Given the description of an element on the screen output the (x, y) to click on. 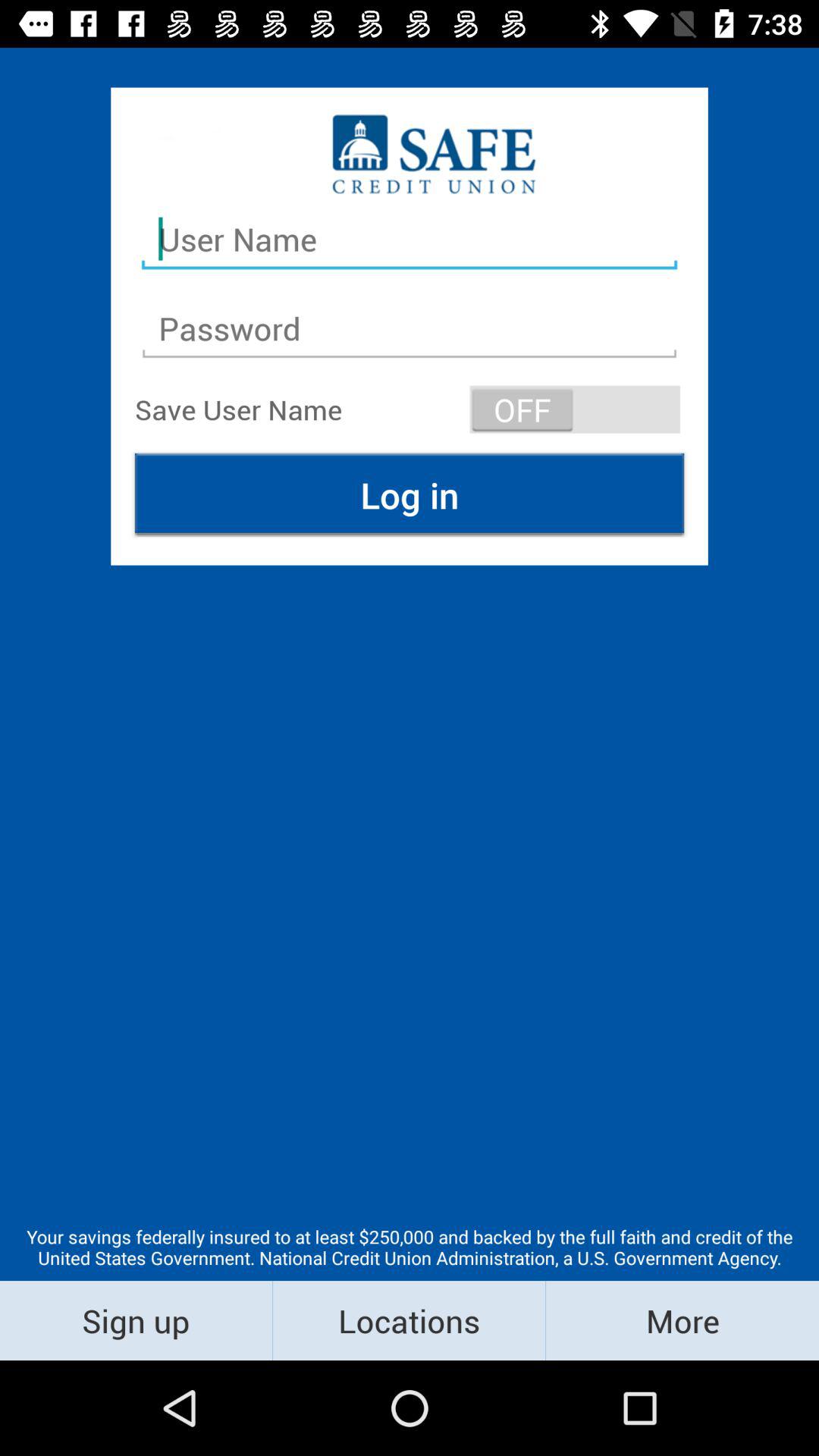
press item to the right of the locations item (682, 1320)
